Given the description of an element on the screen output the (x, y) to click on. 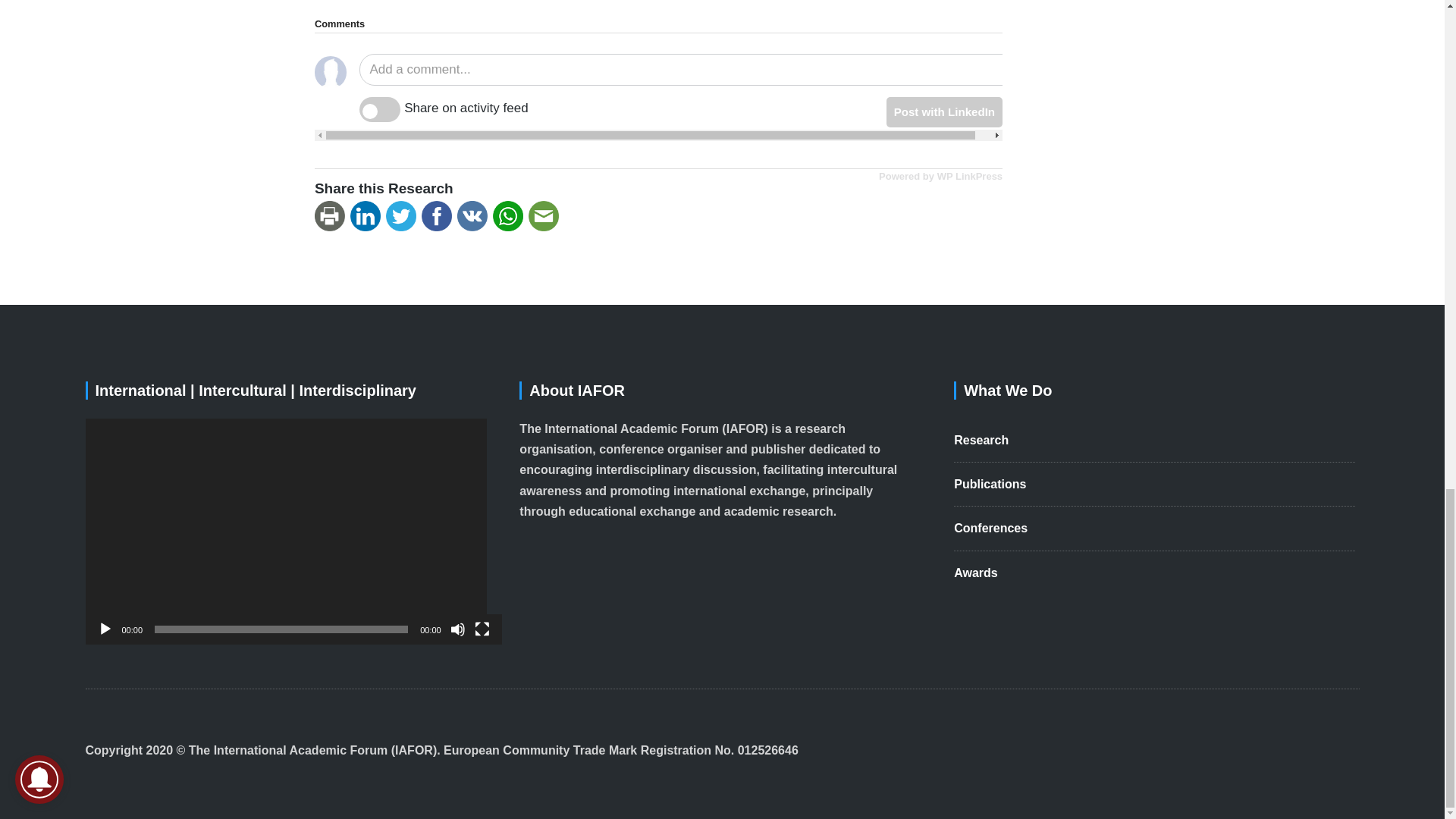
print (332, 216)
vk (475, 216)
facebook (439, 216)
linkedin (367, 216)
whatsapp (510, 216)
twitter (403, 216)
Play (104, 629)
email (546, 216)
